Given the description of an element on the screen output the (x, y) to click on. 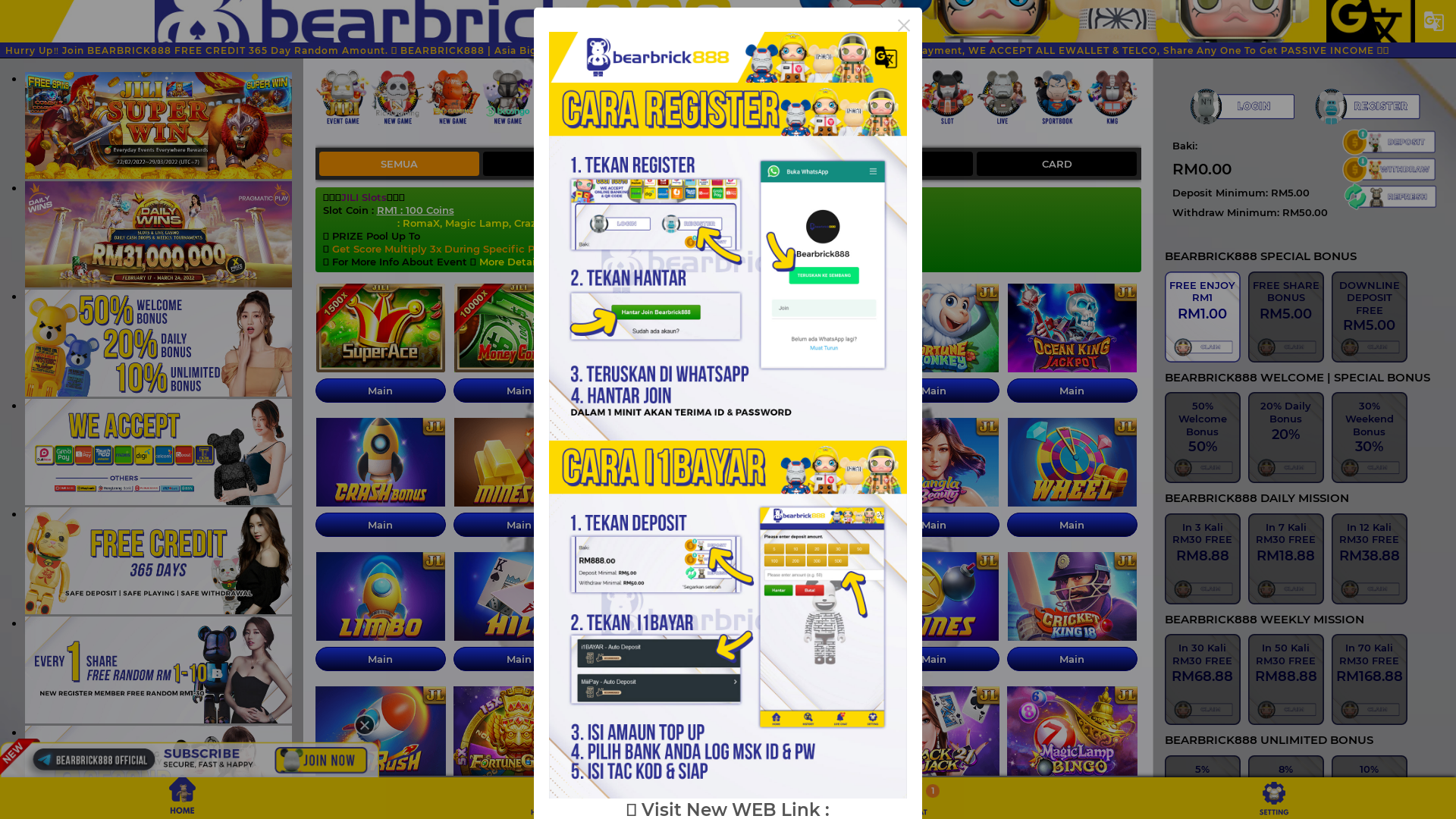
CUCI Element type: text (1387, 168)
LOG MASUK Element type: text (1240, 106)
TOP UP Element type: text (1387, 141)
DAFTAR Element type: text (1367, 106)
SEGARKAN Element type: text (1387, 196)
